Given the description of an element on the screen output the (x, y) to click on. 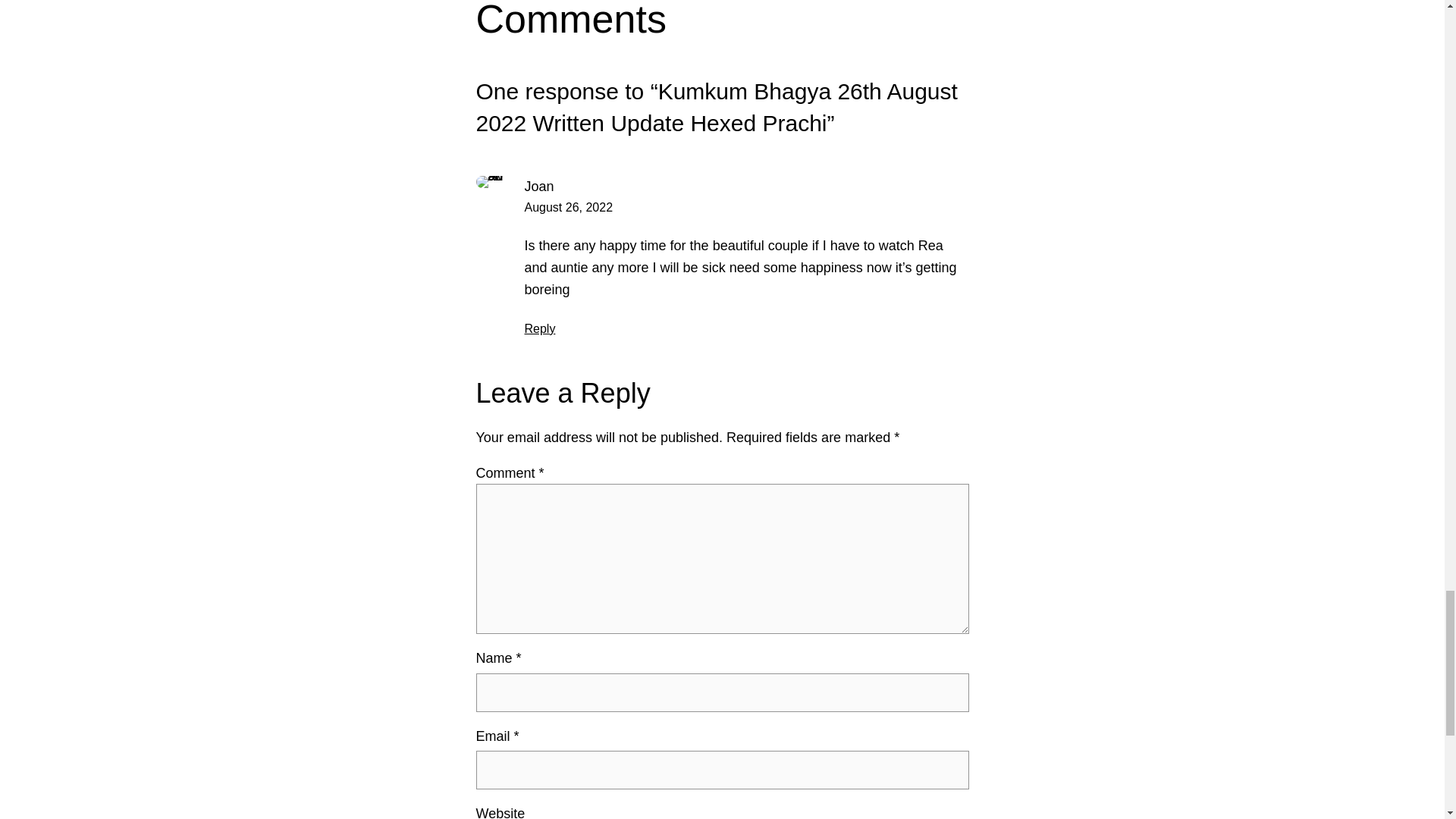
August 26, 2022 (568, 206)
Reply (540, 328)
